Given the description of an element on the screen output the (x, y) to click on. 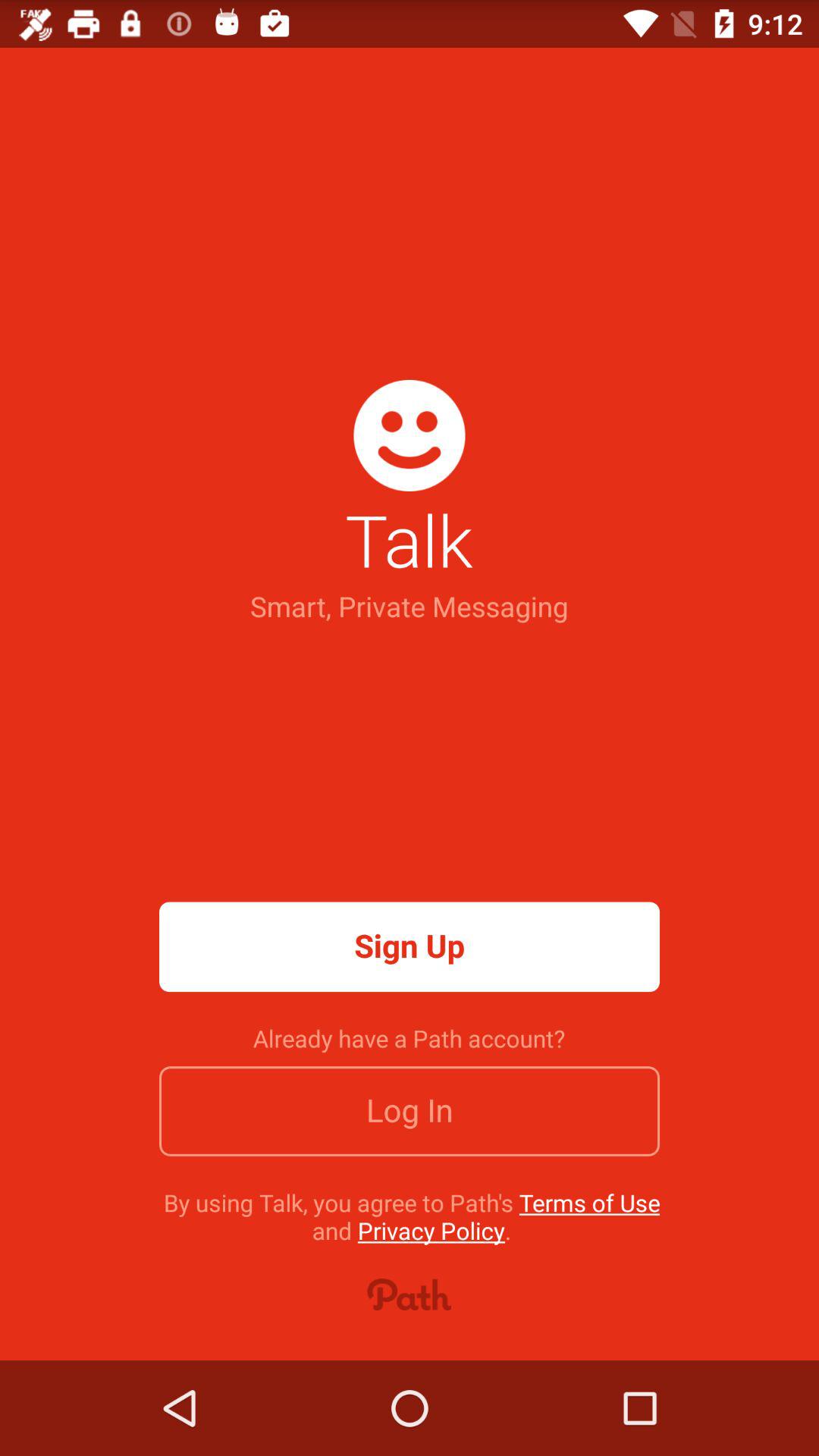
choose the sign up item (409, 946)
